Given the description of an element on the screen output the (x, y) to click on. 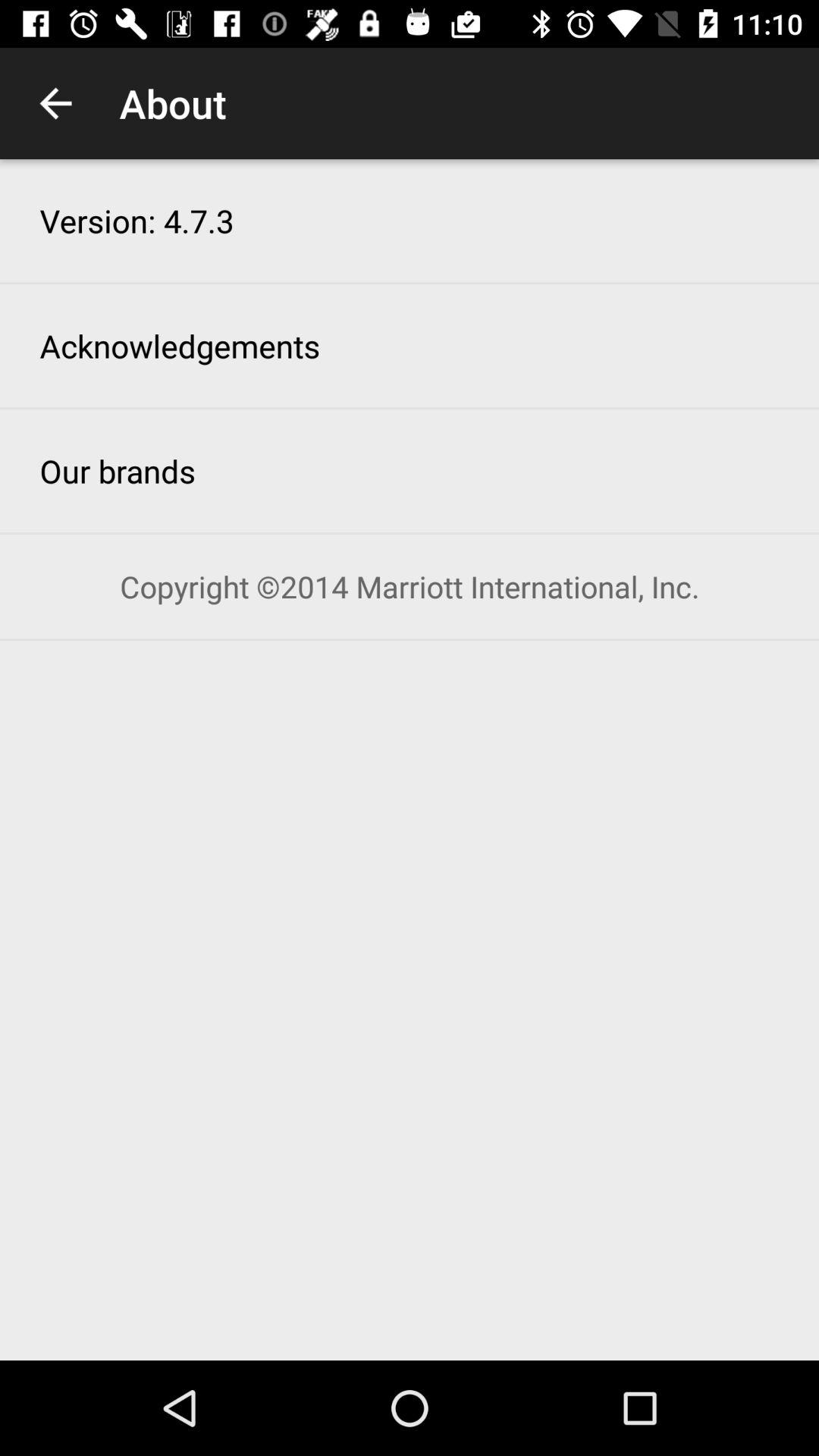
turn on acknowledgements (180, 345)
